Given the description of an element on the screen output the (x, y) to click on. 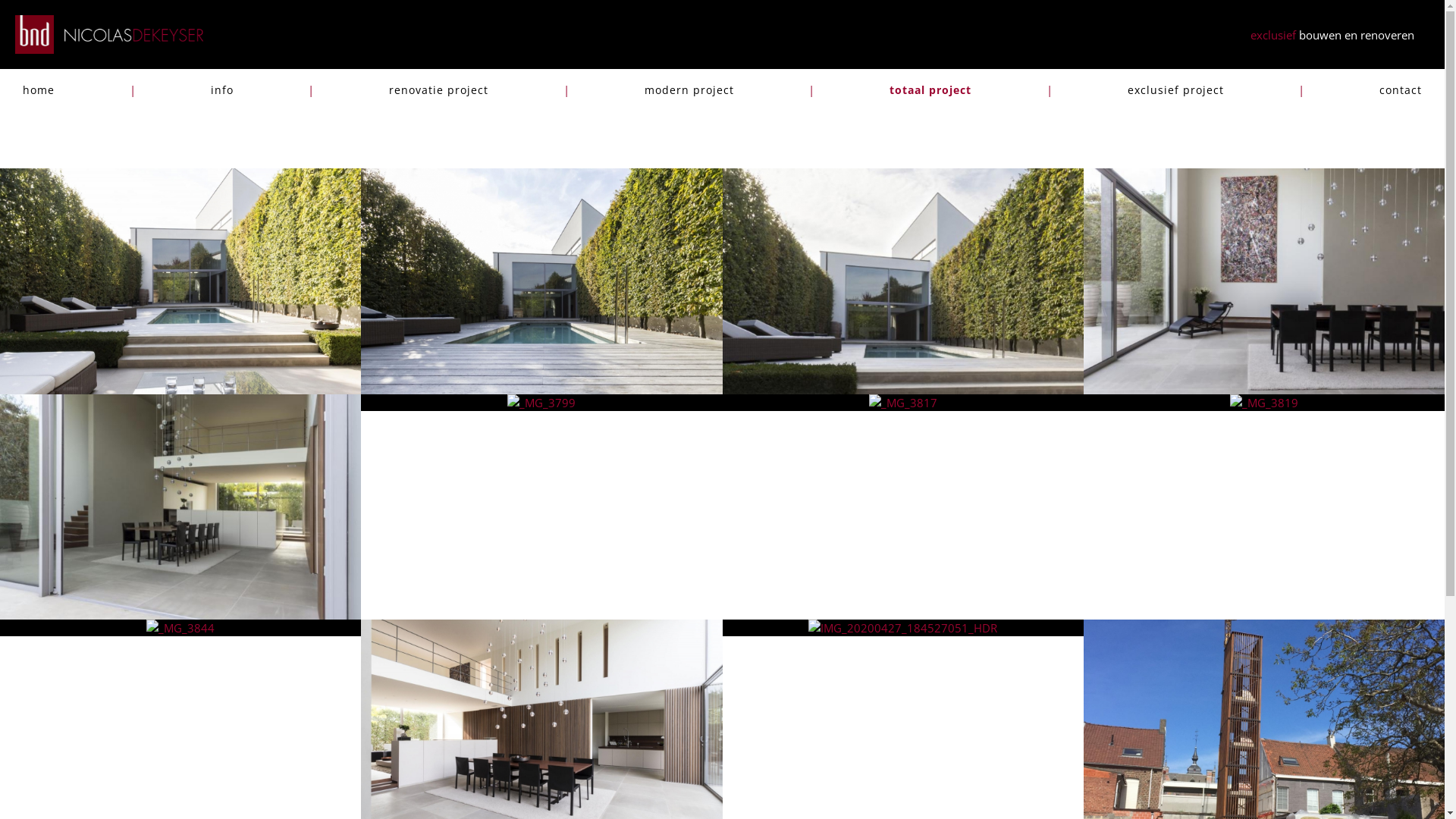
_MG_3729 Element type: hover (540, 281)
totaal project Element type: text (930, 90)
_MG_3787 Element type: hover (1263, 281)
_MG_3844 Element type: hover (180, 627)
IMG_20200427_184527051_HDR Element type: hover (901, 627)
contact Element type: text (1400, 90)
IMG_20200427_184527051_HDR Element type: hover (902, 627)
info Element type: text (221, 90)
modern project Element type: text (689, 90)
_MG_3799 Element type: hover (540, 402)
_MG_3799 Element type: hover (541, 402)
exclusief project Element type: text (1174, 90)
_MG_3819 Element type: hover (1263, 402)
_MG_3791 Element type: hover (180, 507)
_MG_3722 Element type: hover (180, 281)
_MG_3844 Element type: hover (180, 627)
home Element type: text (38, 90)
_MG_3819 Element type: hover (1264, 402)
_MG_3770 Element type: hover (901, 281)
_MG_3817 Element type: hover (903, 402)
_MG_3817 Element type: hover (901, 402)
renovatie project Element type: text (438, 90)
